Given the description of an element on the screen output the (x, y) to click on. 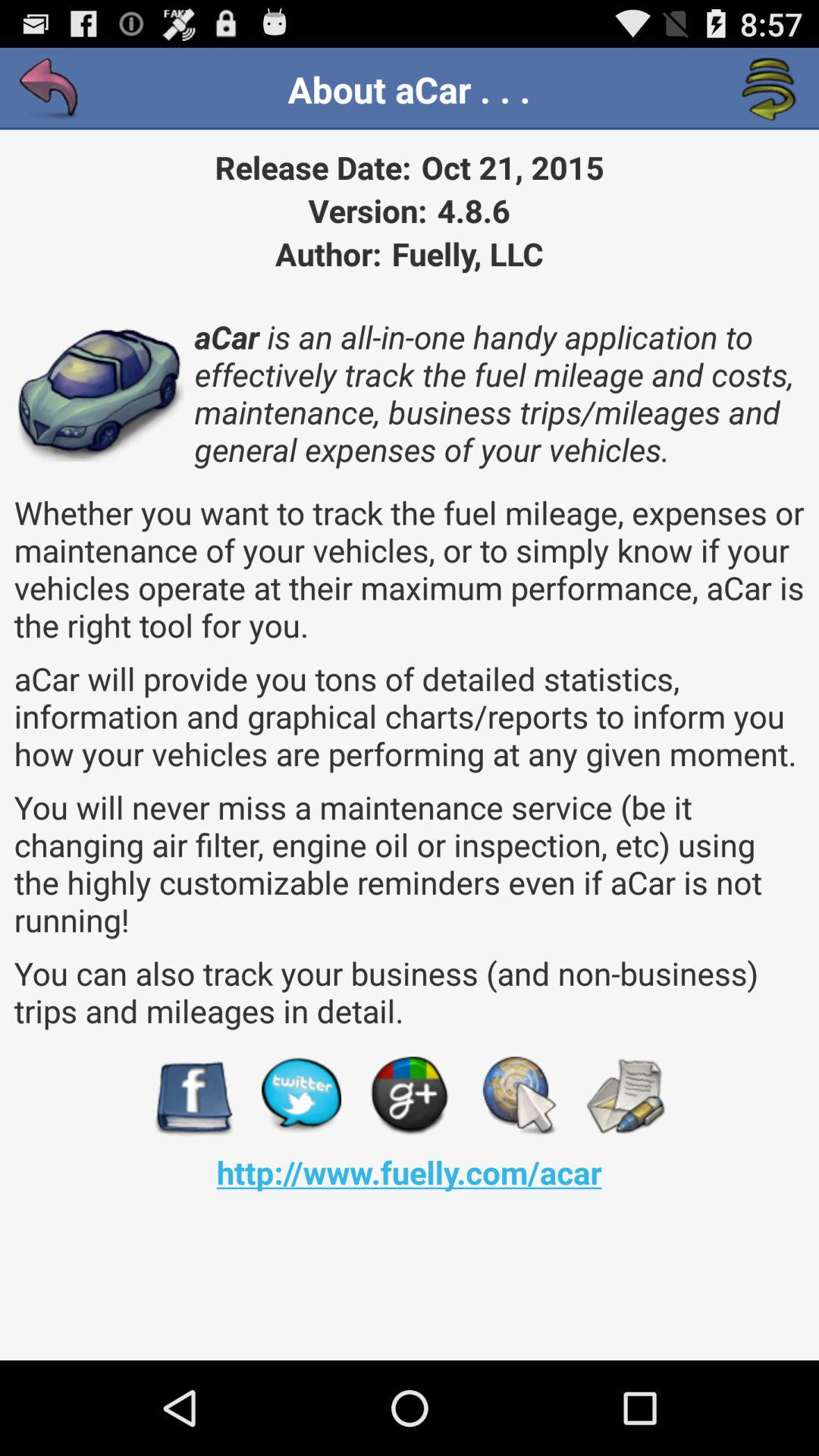
tap item above http www fuelly app (193, 1096)
